Given the description of an element on the screen output the (x, y) to click on. 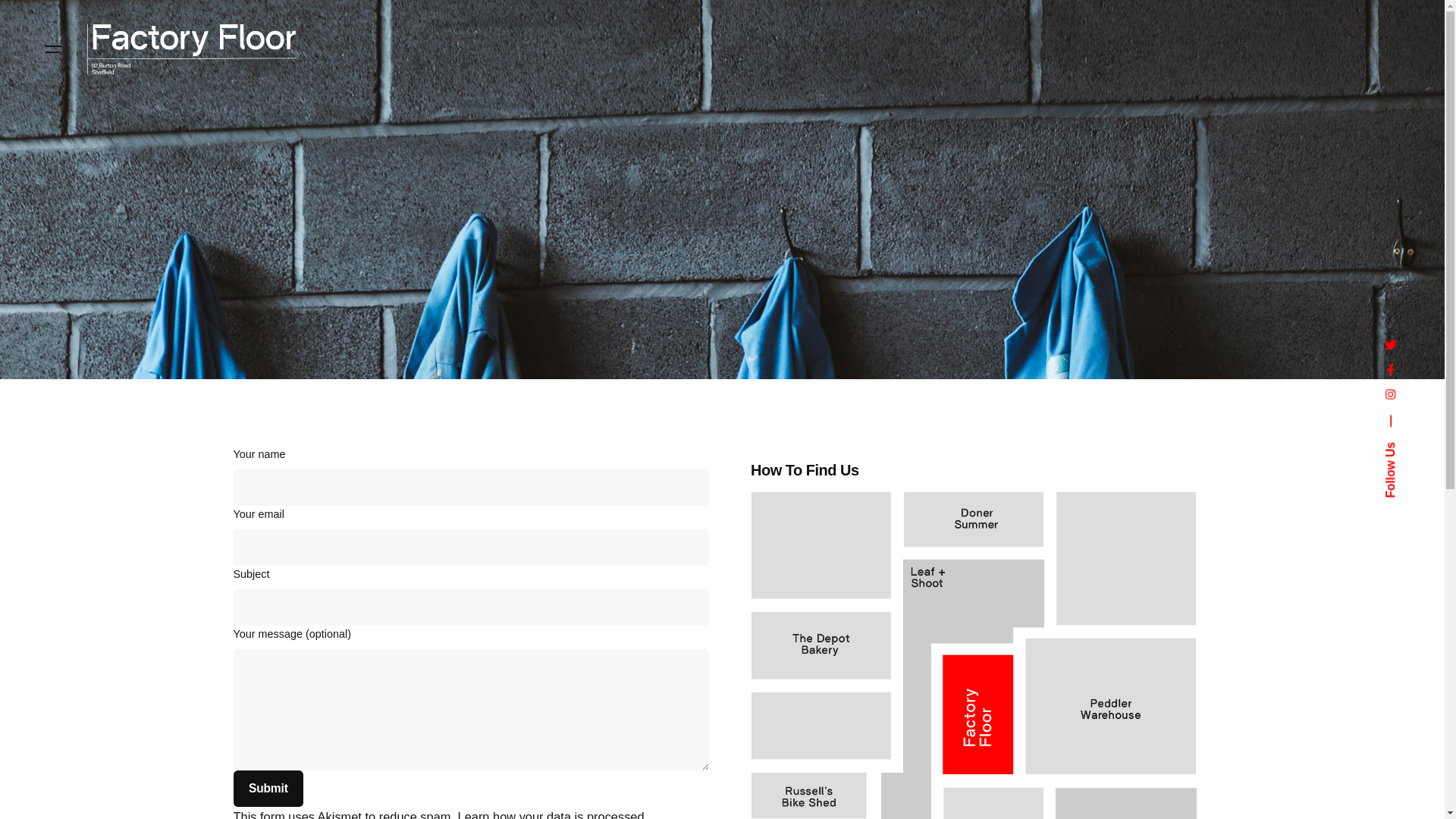
Submit Element type: text (268, 788)
